Given the description of an element on the screen output the (x, y) to click on. 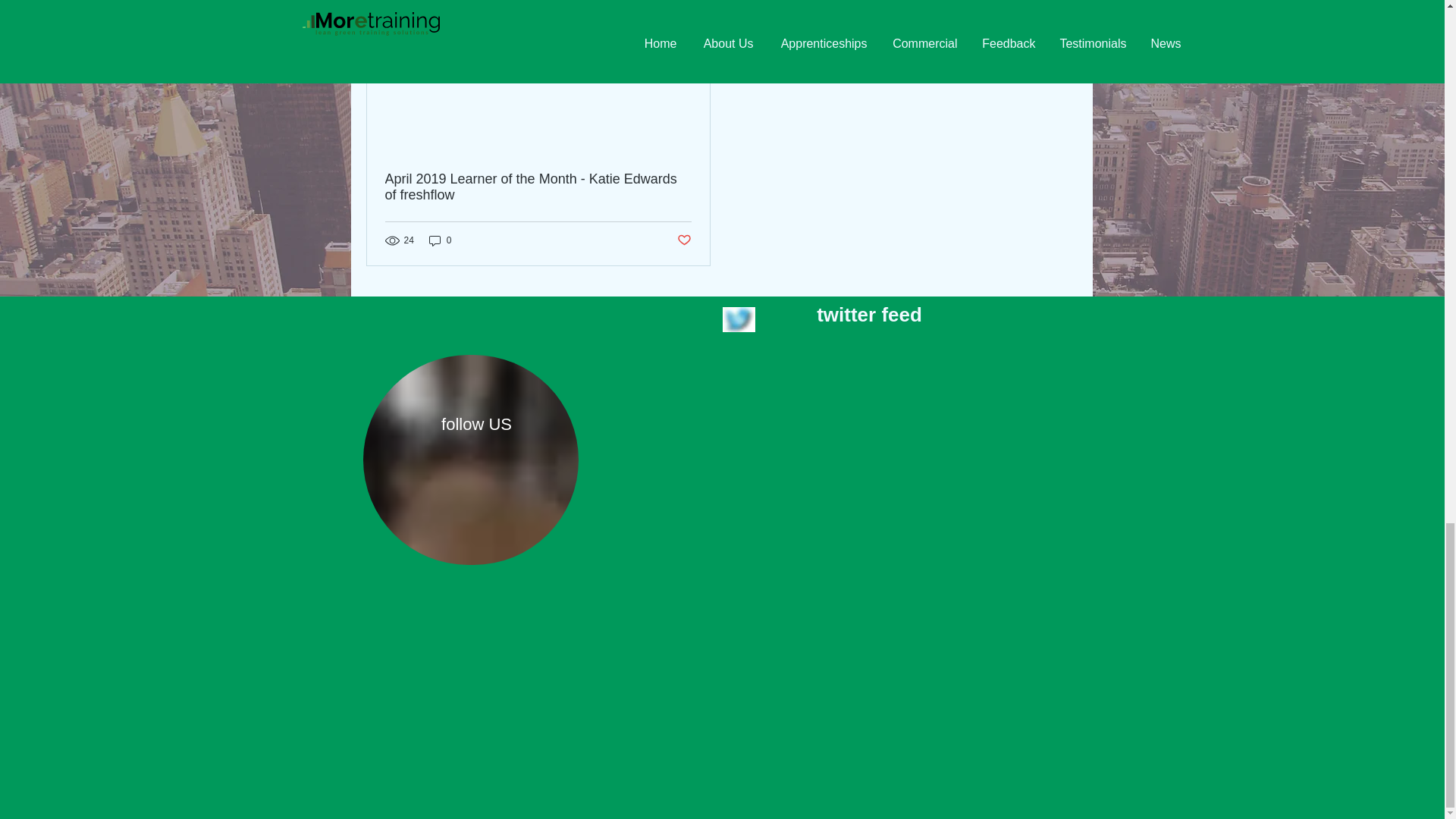
Twitter Logo.jpg (738, 319)
0 (440, 240)
Twitter Follow (547, 487)
Post not marked as liked (683, 240)
April 2019 Learner of the Month - Katie Edwards of freshflow (538, 187)
Facebook Like (400, 487)
